Given the description of an element on the screen output the (x, y) to click on. 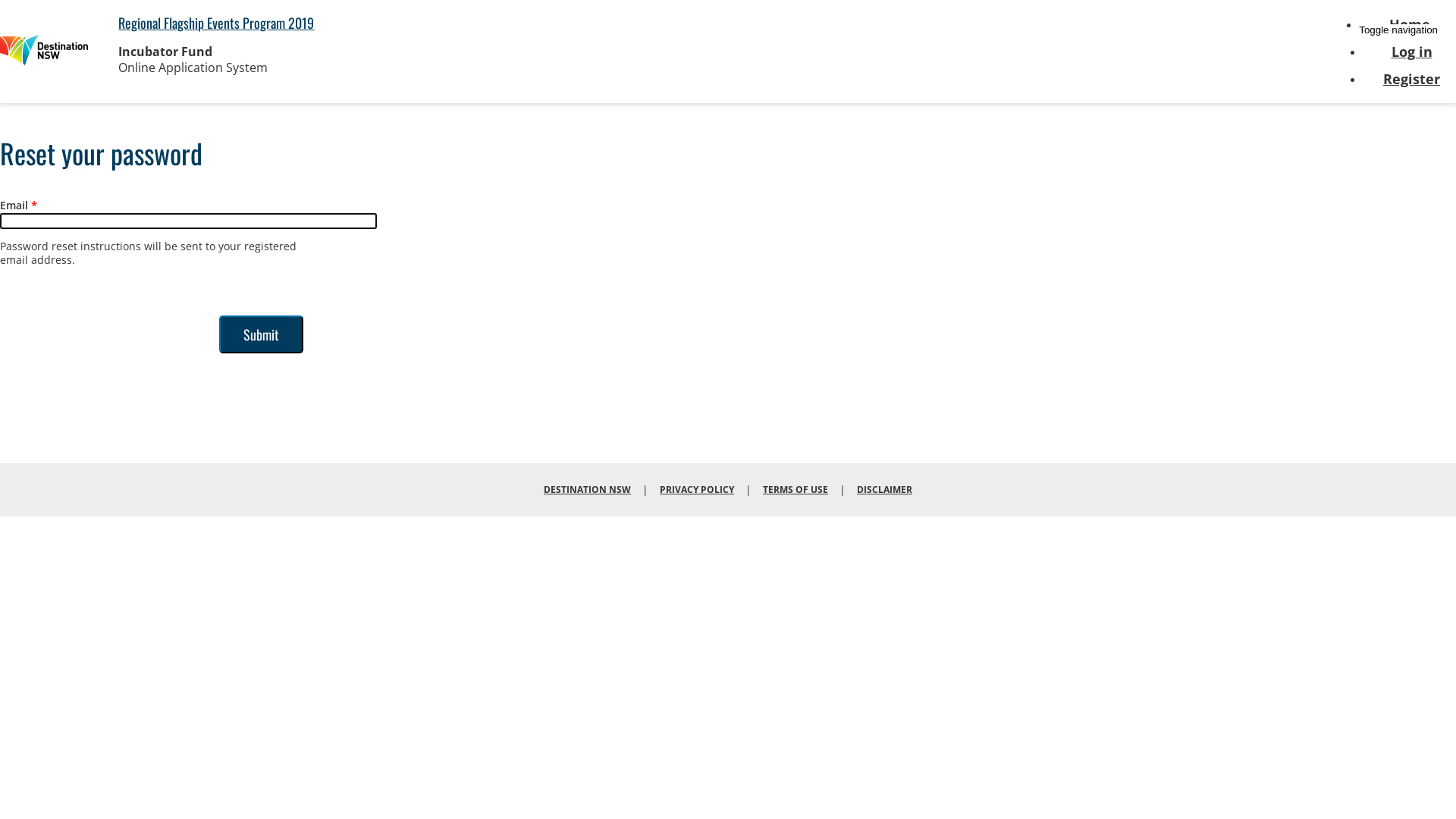
PRIVACY POLICY Element type: text (696, 489)
Toggle navigation Element type: text (1397, 29)
Submit Element type: text (261, 334)
DISCLAIMER Element type: text (884, 489)
Skip to main content Element type: text (0, 0)
TERMS OF USE Element type: text (795, 489)
DESTINATION NSW Element type: text (586, 489)
Regional Flagship Events Program 2019 Element type: text (215, 22)
Home Element type: hover (43, 51)
